Given the description of an element on the screen output the (x, y) to click on. 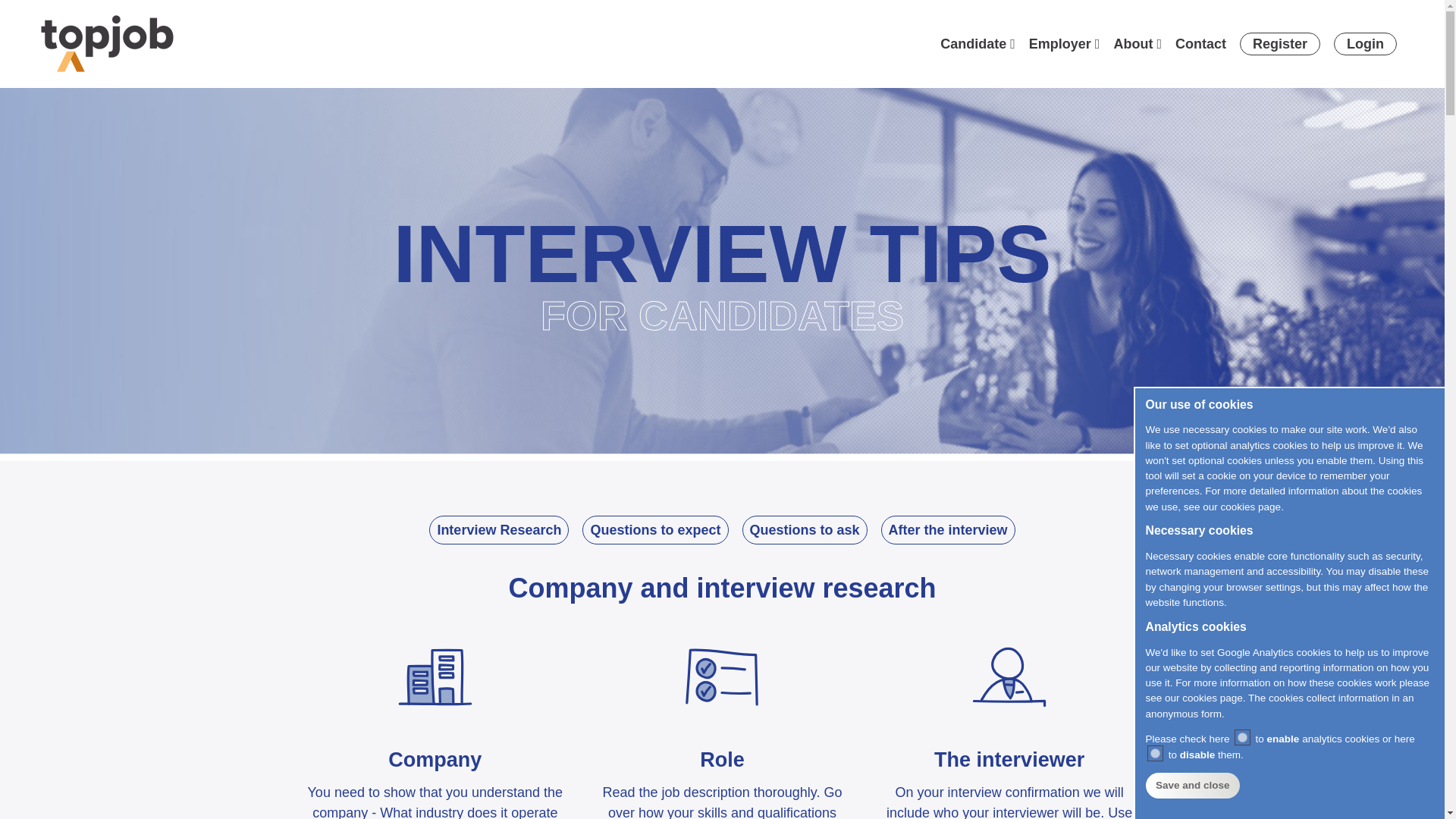
Register (1280, 43)
Contact (1199, 43)
Home (106, 43)
More about Top Job (1133, 43)
on (1242, 737)
Employer (1059, 43)
Find Work (973, 43)
Employer (1059, 43)
on (1155, 752)
